Given the description of an element on the screen output the (x, y) to click on. 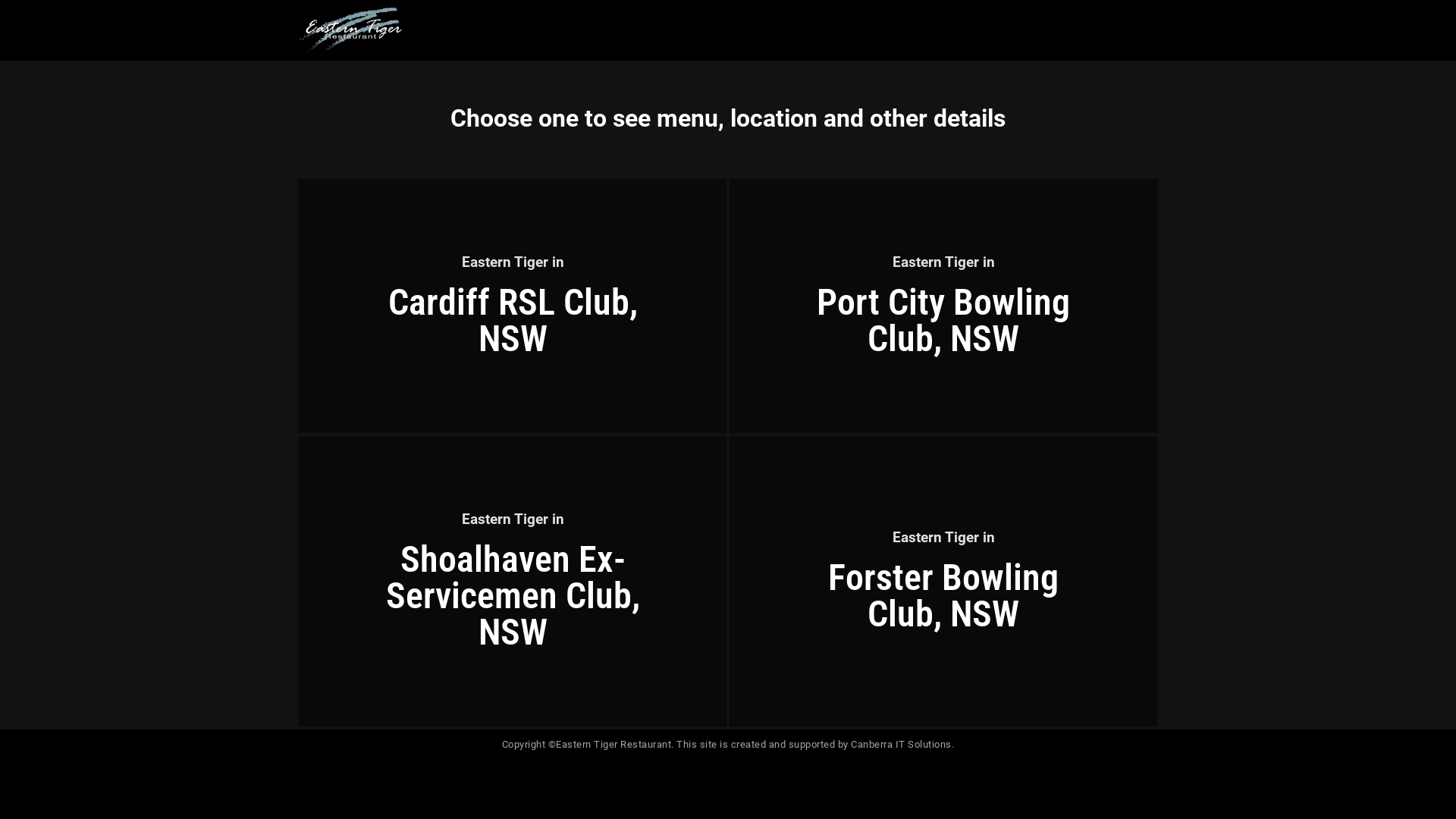
Cardiff RSL Club, NSW Element type: text (512, 320)
Eastern Tiger in Element type: text (512, 261)
Eastern Tiger in Element type: text (512, 518)
Eastern Tiger in Element type: text (942, 537)
Port City Bowling Club, NSW Element type: text (943, 320)
Forster Bowling Club, NSW Element type: text (943, 595)
Shoalhaven Ex-Servicemen Club, NSW Element type: text (512, 595)
Eastern Tiger in Element type: text (942, 261)
